Given the description of an element on the screen output the (x, y) to click on. 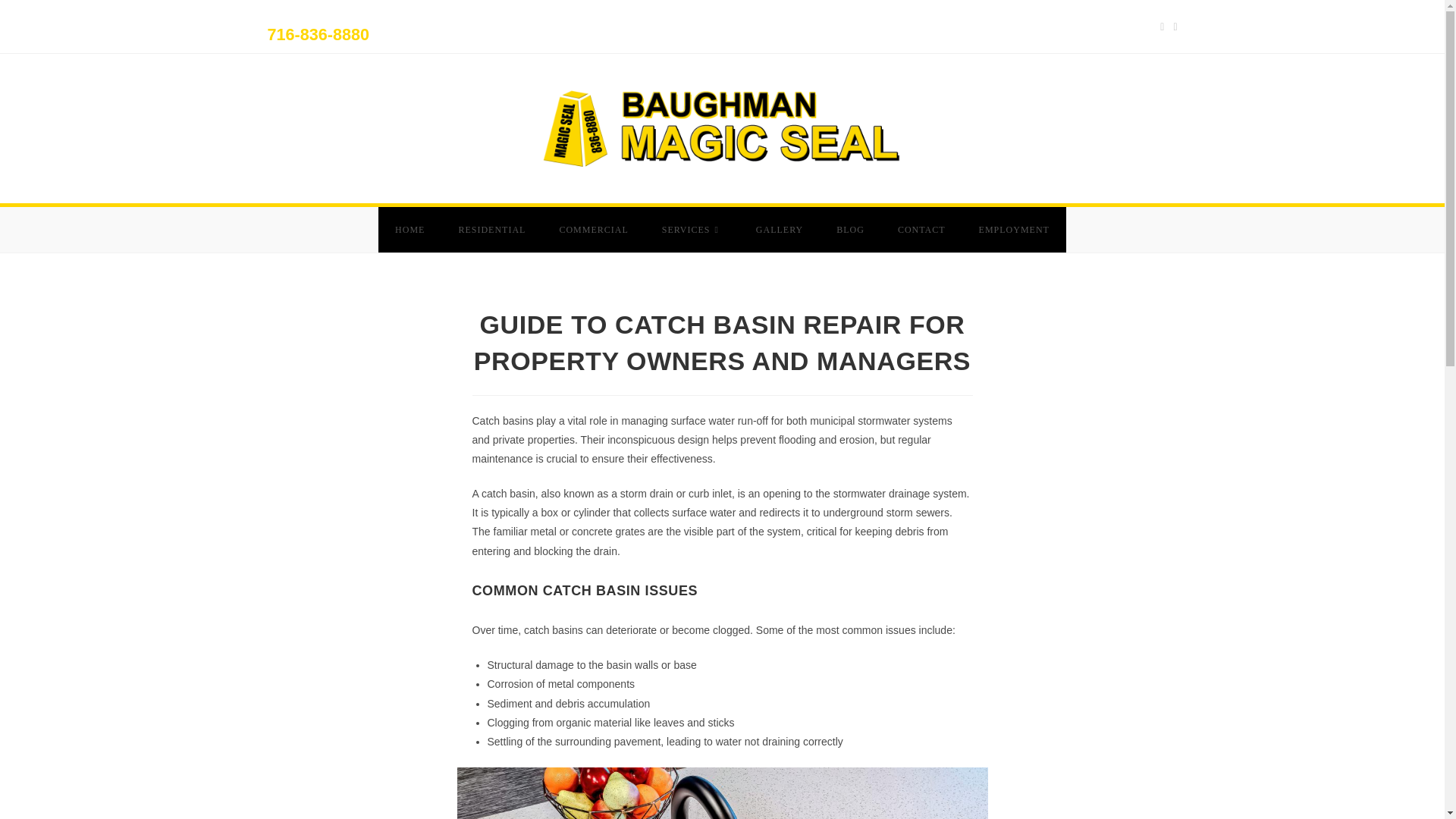
BLOG (849, 229)
SERVICES (692, 229)
EMPLOYMENT (1013, 229)
COMMERCIAL (593, 229)
CONTACT (921, 229)
RESIDENTIAL (491, 229)
HOME (409, 229)
GALLERY (779, 229)
